Given the description of an element on the screen output the (x, y) to click on. 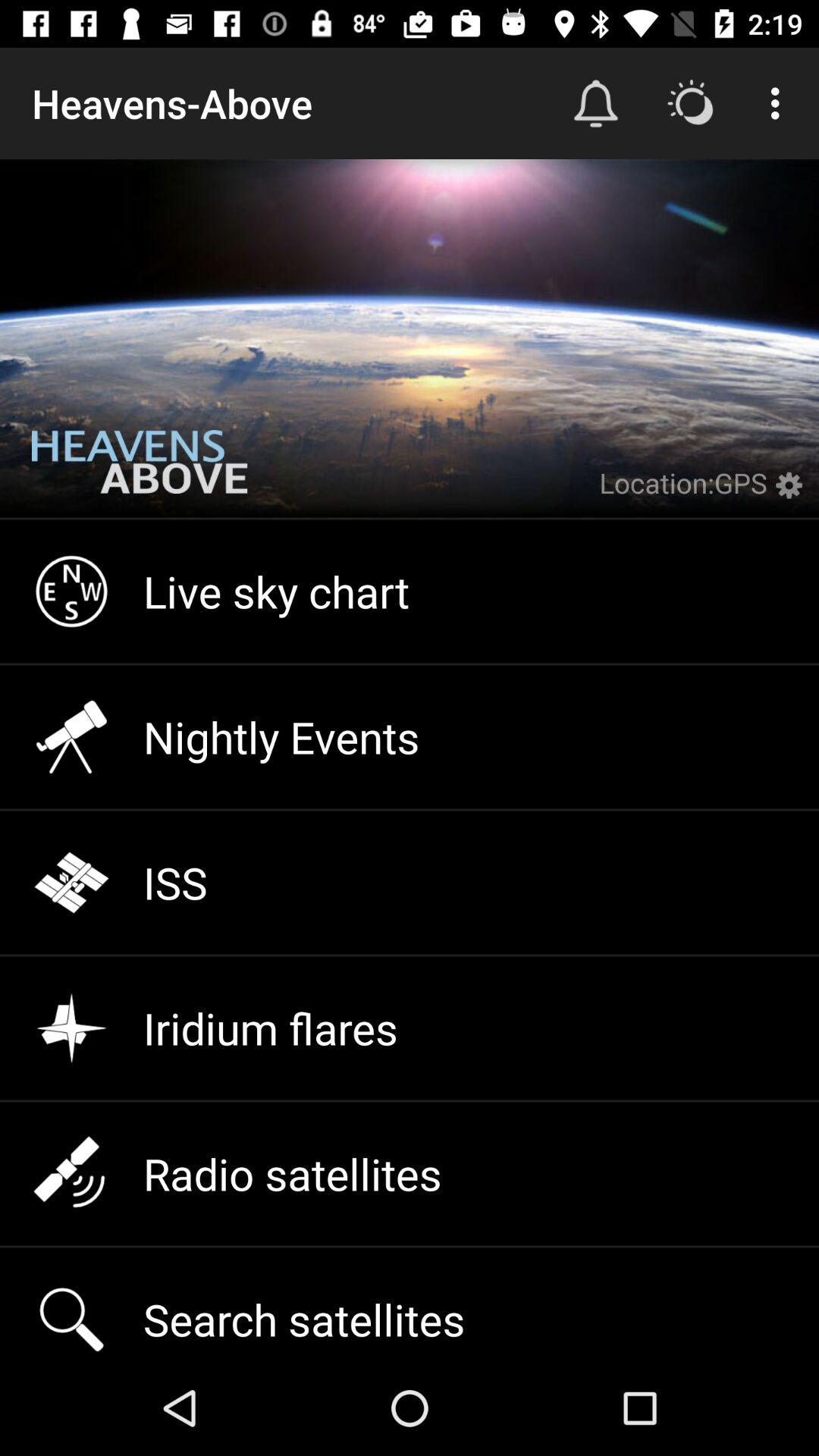
press the item on the right (793, 494)
